Given the description of an element on the screen output the (x, y) to click on. 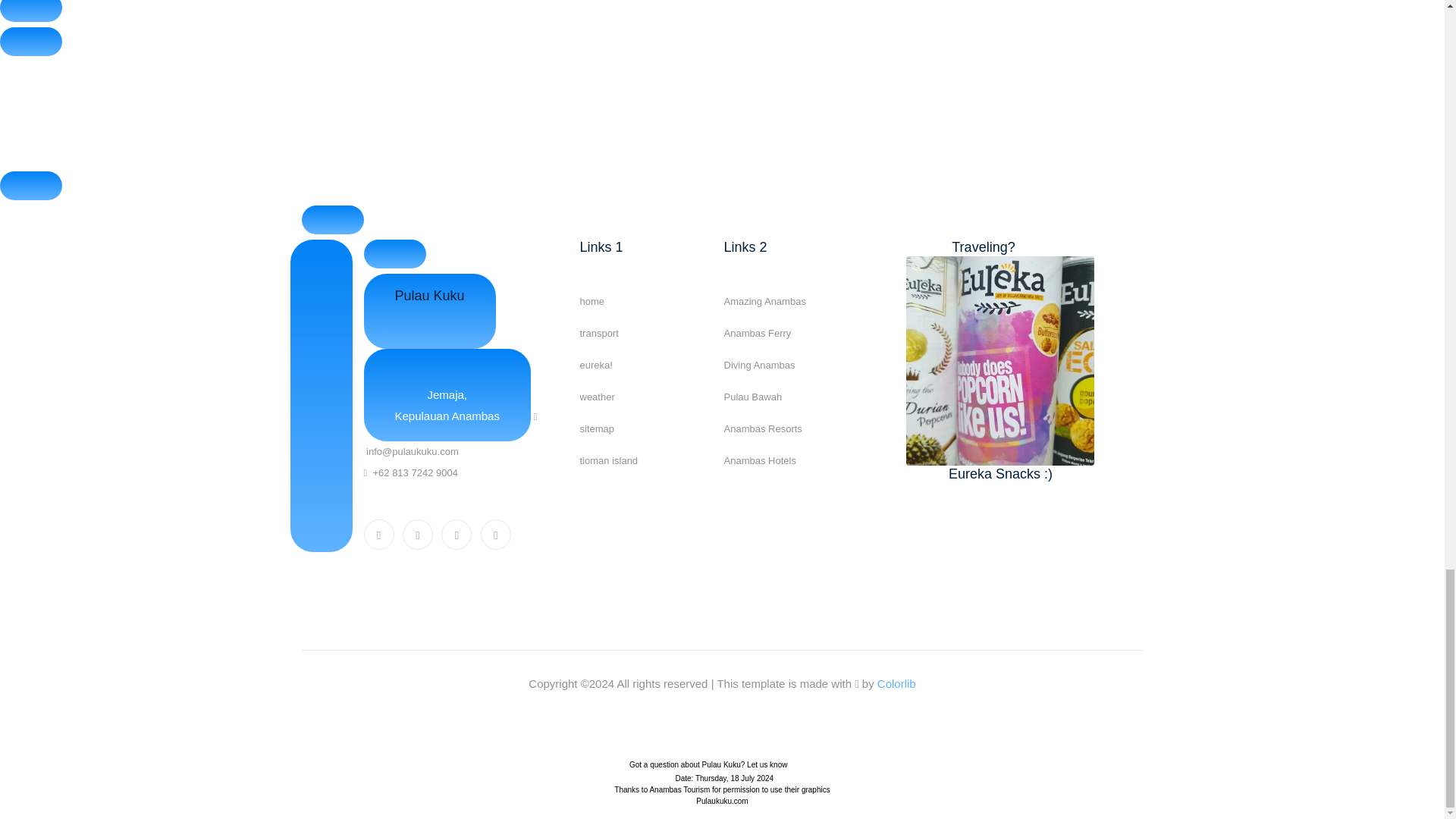
On the go? Eureka Snacks (999, 359)
Pulau Kuku (430, 311)
